Given the description of an element on the screen output the (x, y) to click on. 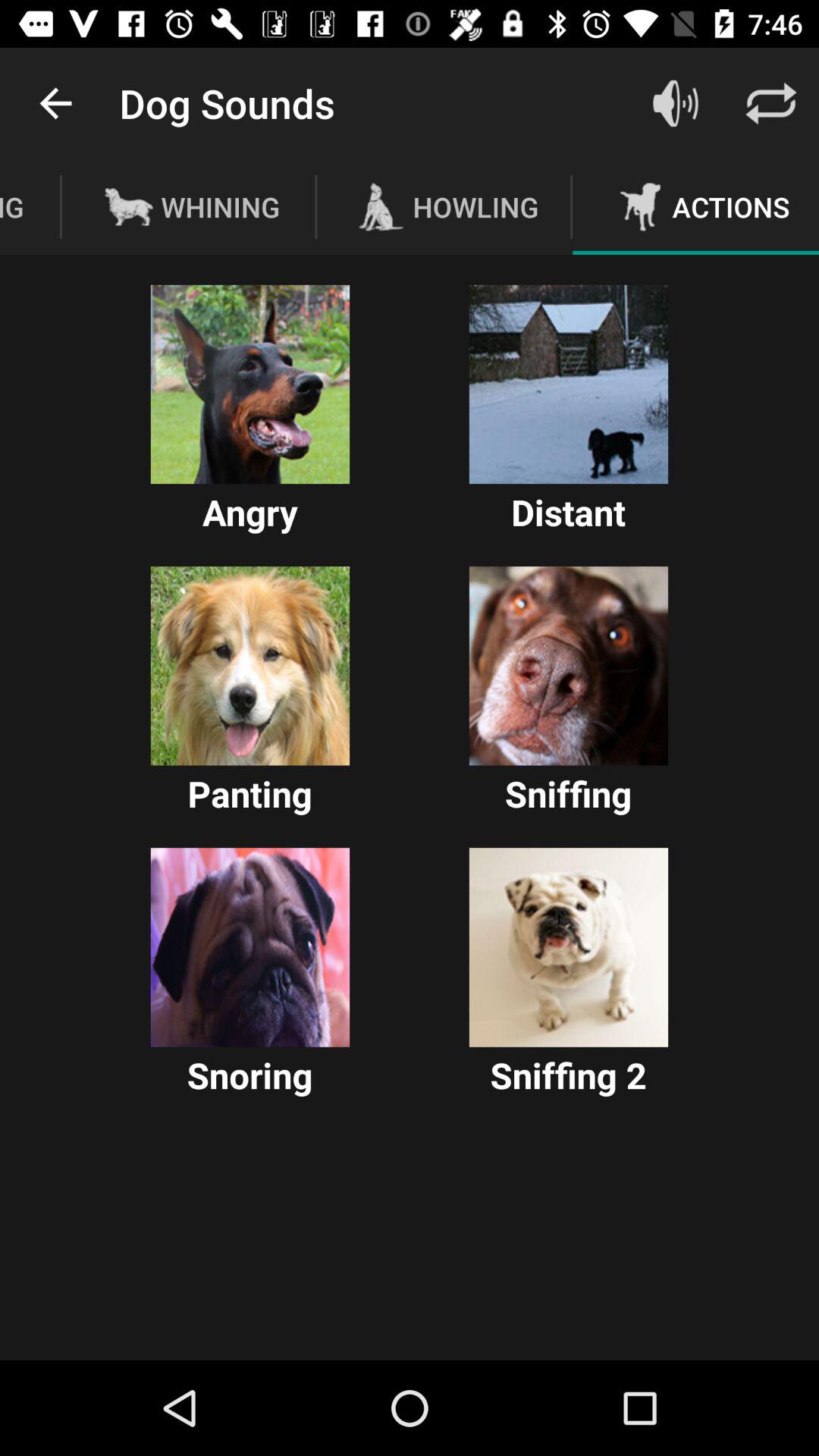
distant dog sound (568, 384)
